Given the description of an element on the screen output the (x, y) to click on. 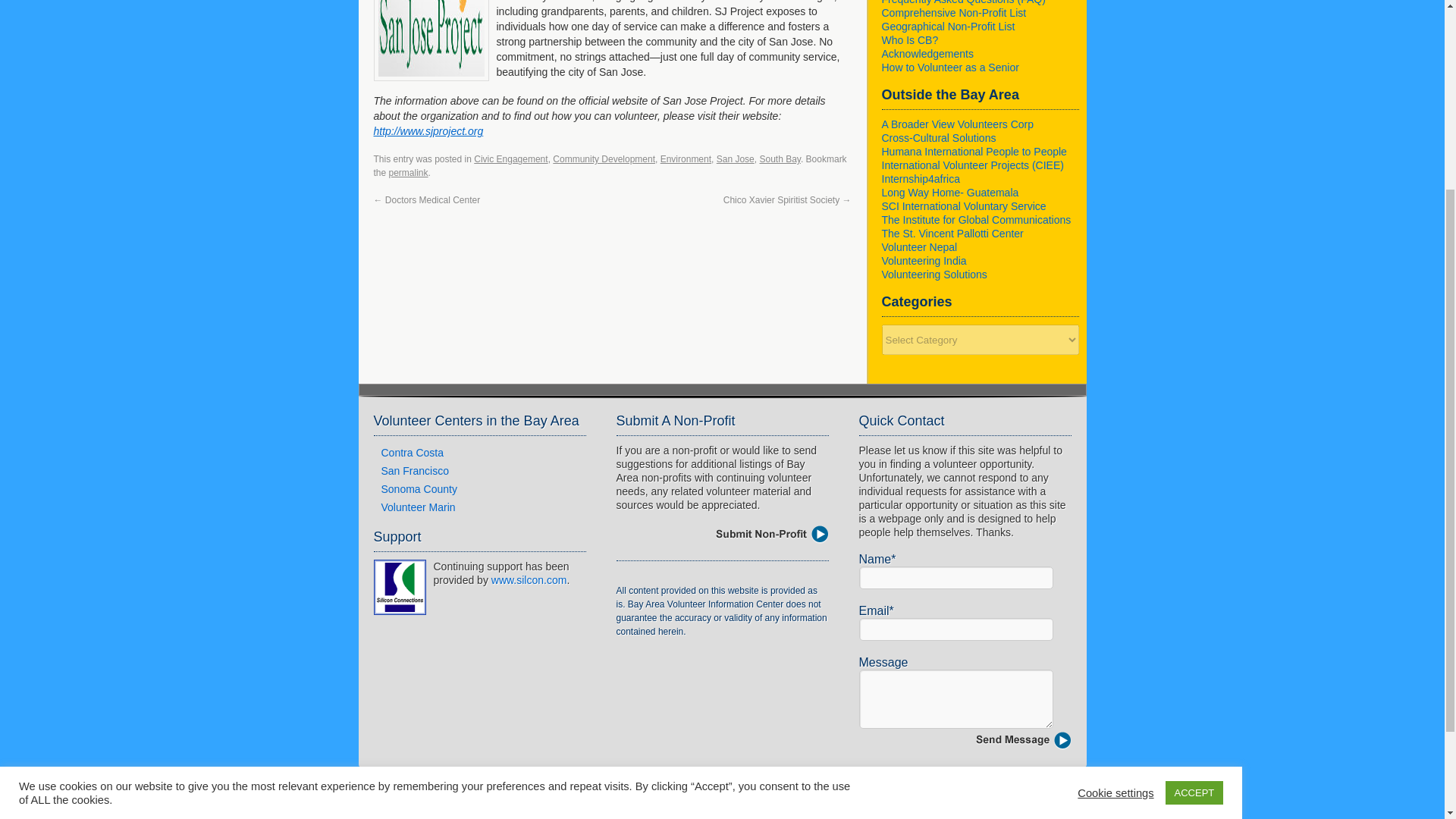
Volunteer center for Marin (417, 507)
Geographical Non-Profit List (947, 26)
Submit Non-Profit (771, 534)
Permalink to San Jose Project (408, 172)
A Broader View Volunteers Corp (956, 123)
How to Volunteer as a Senior (948, 67)
Who Is CB? (908, 39)
Cross-Cultural Solutions (937, 137)
SCI International Voluntary Service (962, 205)
Long Way Home- Guatemala (948, 192)
South Bay (778, 158)
Acknowledgements (926, 53)
Humana International People to People (972, 151)
